Given the description of an element on the screen output the (x, y) to click on. 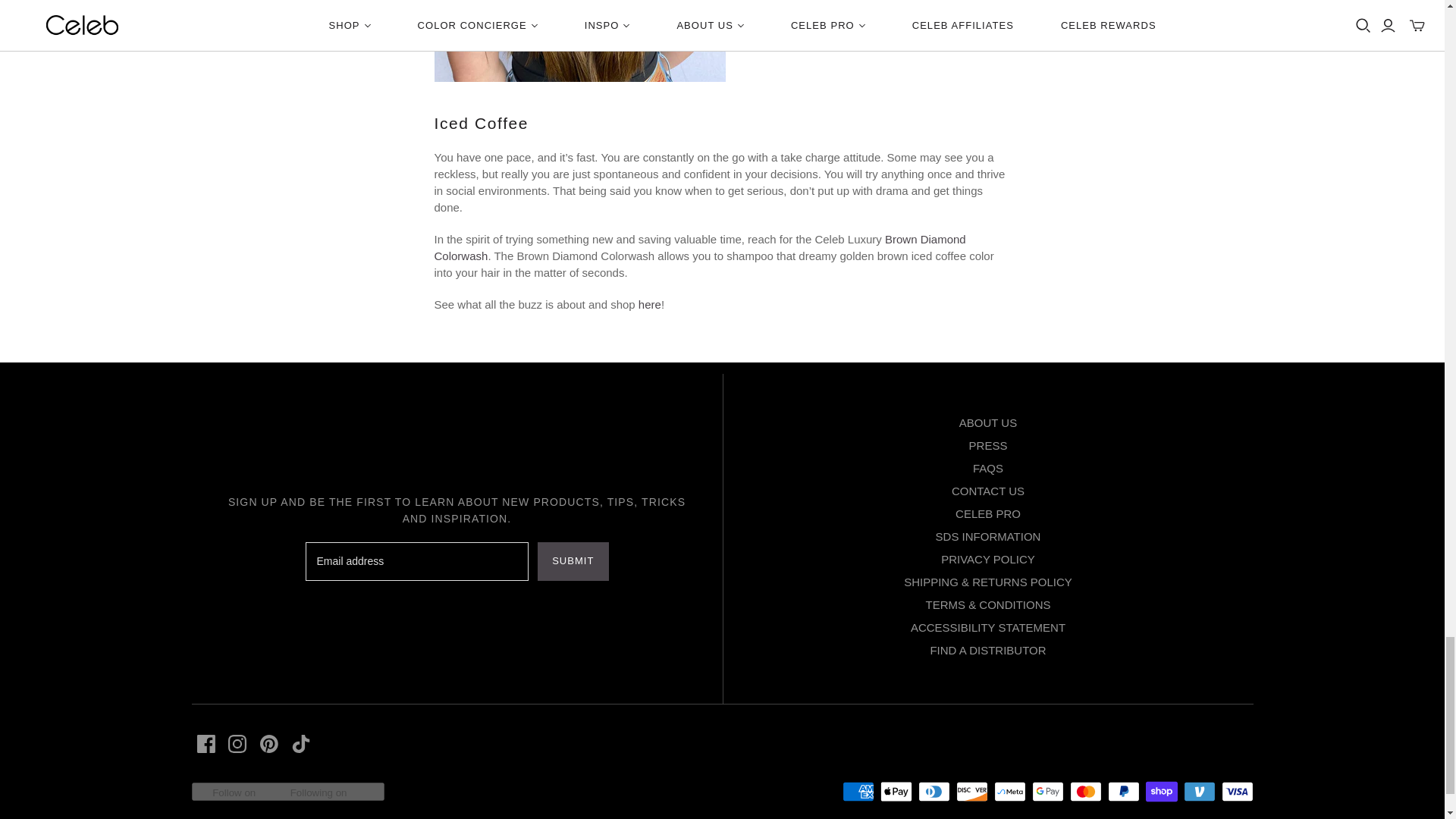
American Express (857, 791)
Discover (971, 791)
Mastercard (1084, 791)
Apple Pay (895, 791)
Meta Pay (1008, 791)
PayPal (1122, 791)
Google Pay (1046, 791)
Diners Club (933, 791)
